Given the description of an element on the screen output the (x, y) to click on. 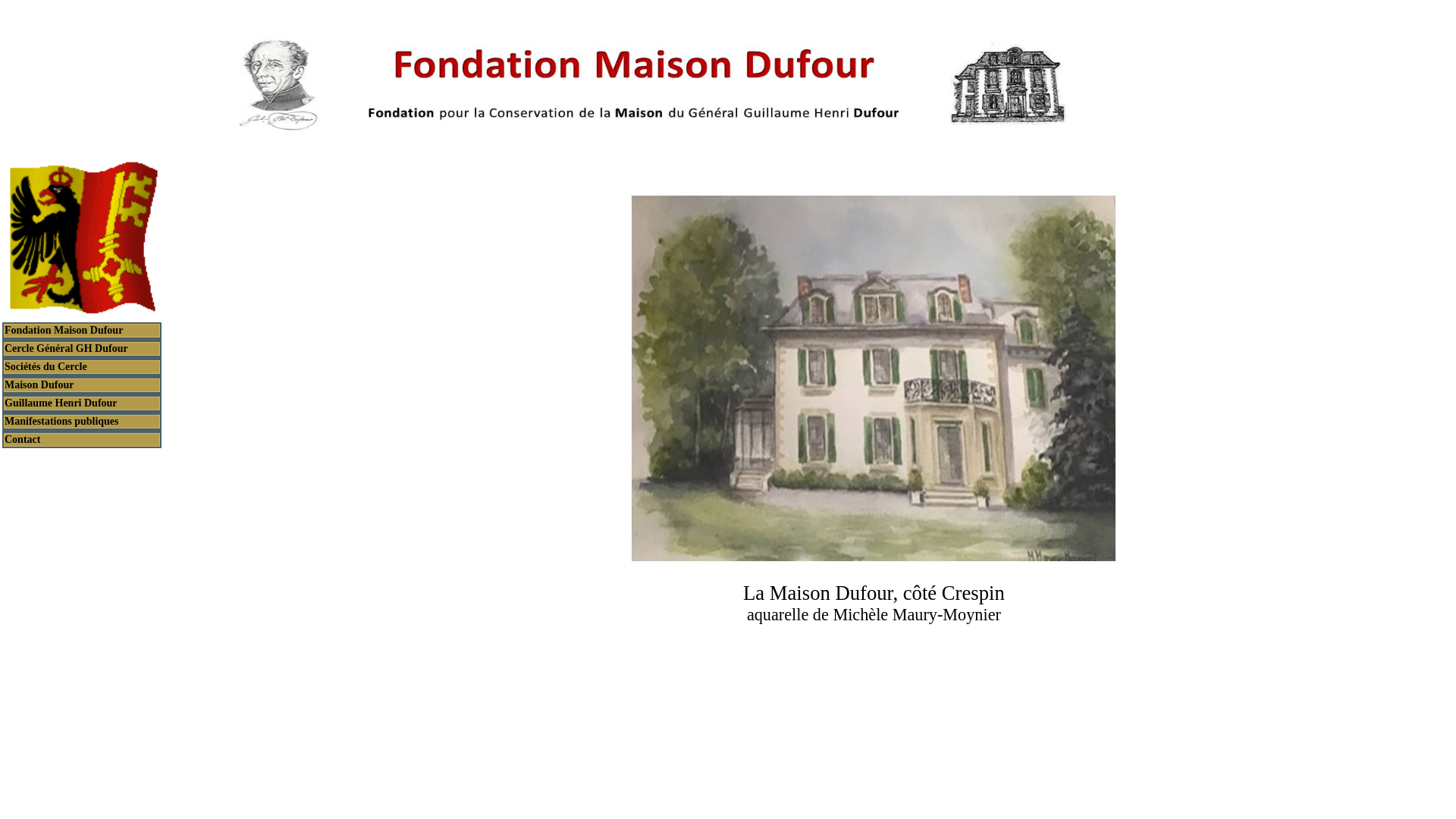
Maison Dufour Element type: text (81, 385)
Manifestations publiques Element type: text (81, 421)
Guillaume Henri Dufour Element type: text (81, 403)
Fondation Maison Dufour Element type: text (81, 330)
Contact Element type: text (81, 439)
